Given the description of an element on the screen output the (x, y) to click on. 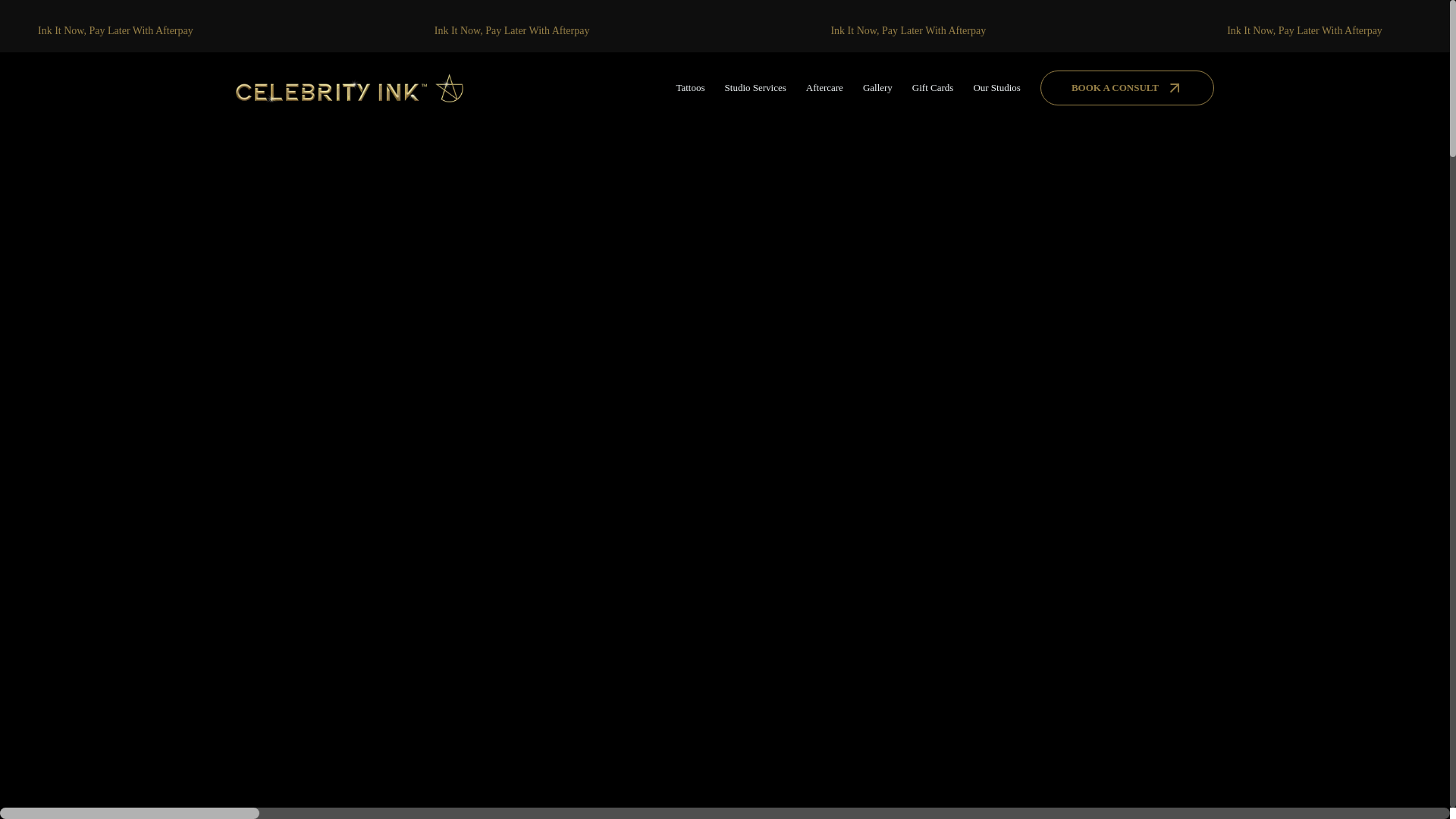
Aftercare (824, 87)
Studio Services (755, 87)
Gift Cards (932, 87)
Our Studios (996, 87)
Gallery (877, 87)
Tattoos (689, 87)
